Given the description of an element on the screen output the (x, y) to click on. 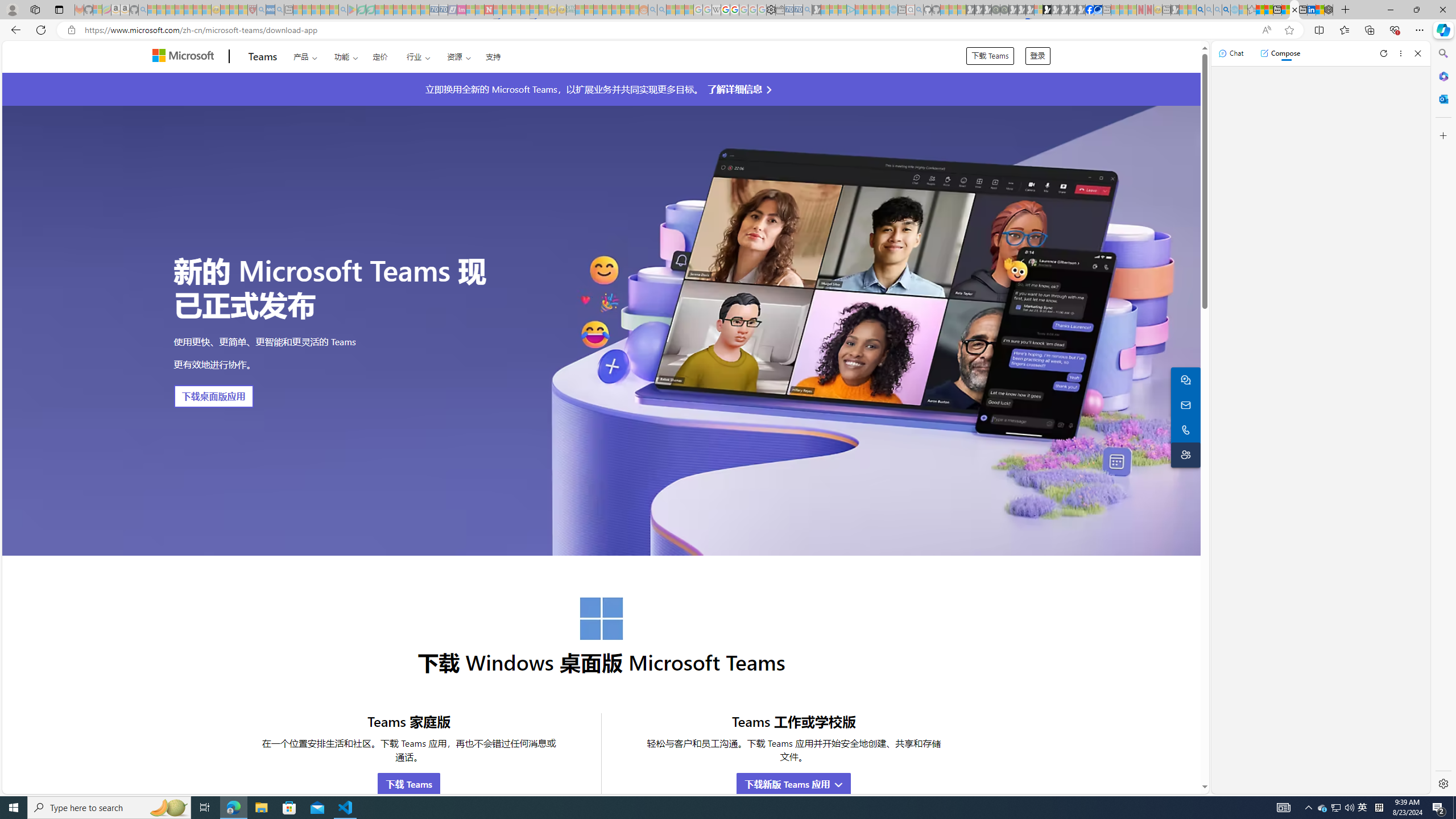
Close Customize pane (1442, 135)
github - Search - Sleeping (919, 9)
Recipes - MSN - Sleeping (224, 9)
Microsoft Start Gaming - Sleeping (815, 9)
Kinda Frugal - MSN - Sleeping (616, 9)
